Given the description of an element on the screen output the (x, y) to click on. 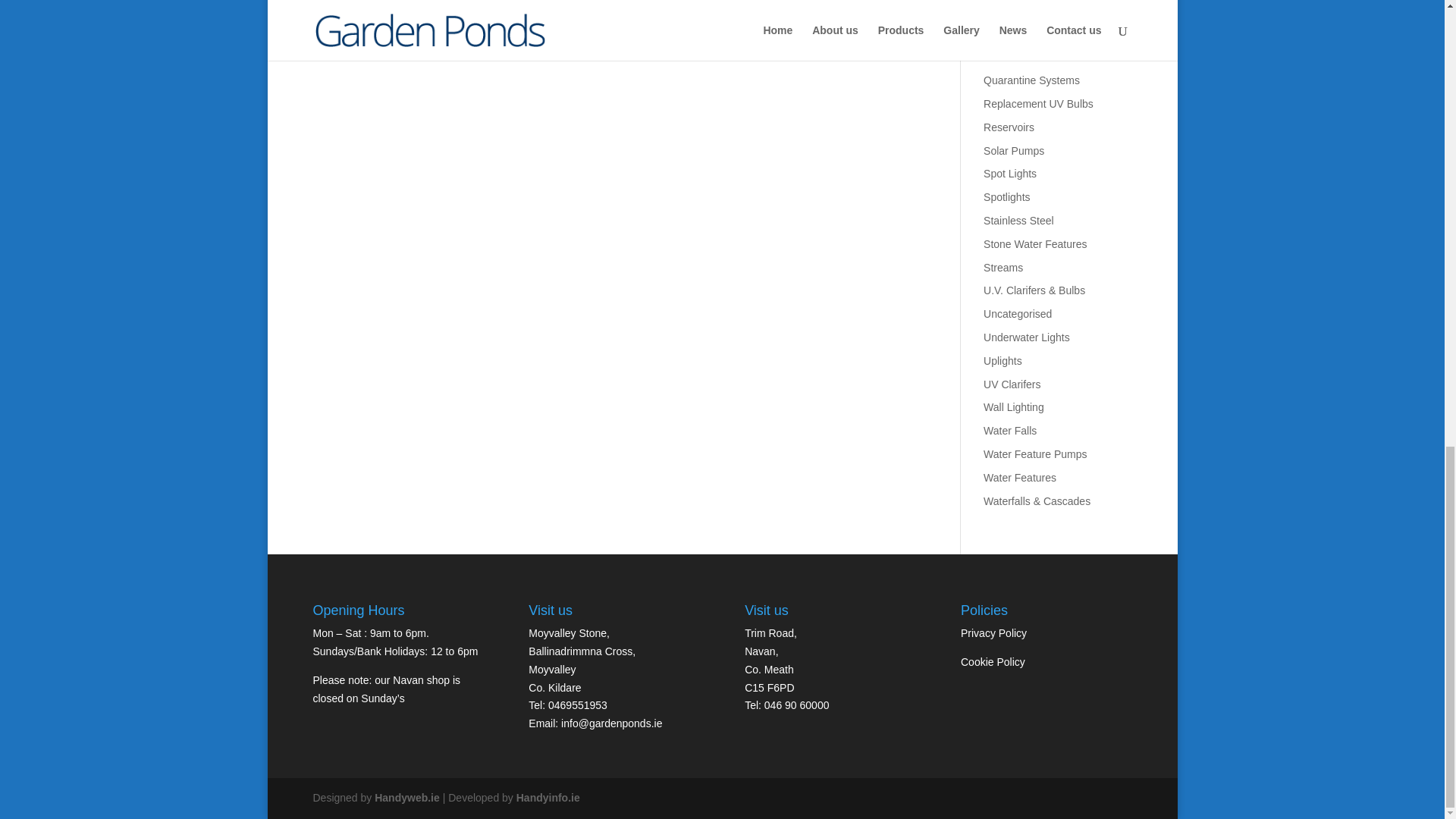
Green 2 Clean 12000 Filter (613, 18)
Web Design By Handyweb (406, 797)
Green 2 Clean 30000 Filter (829, 18)
